Given the description of an element on the screen output the (x, y) to click on. 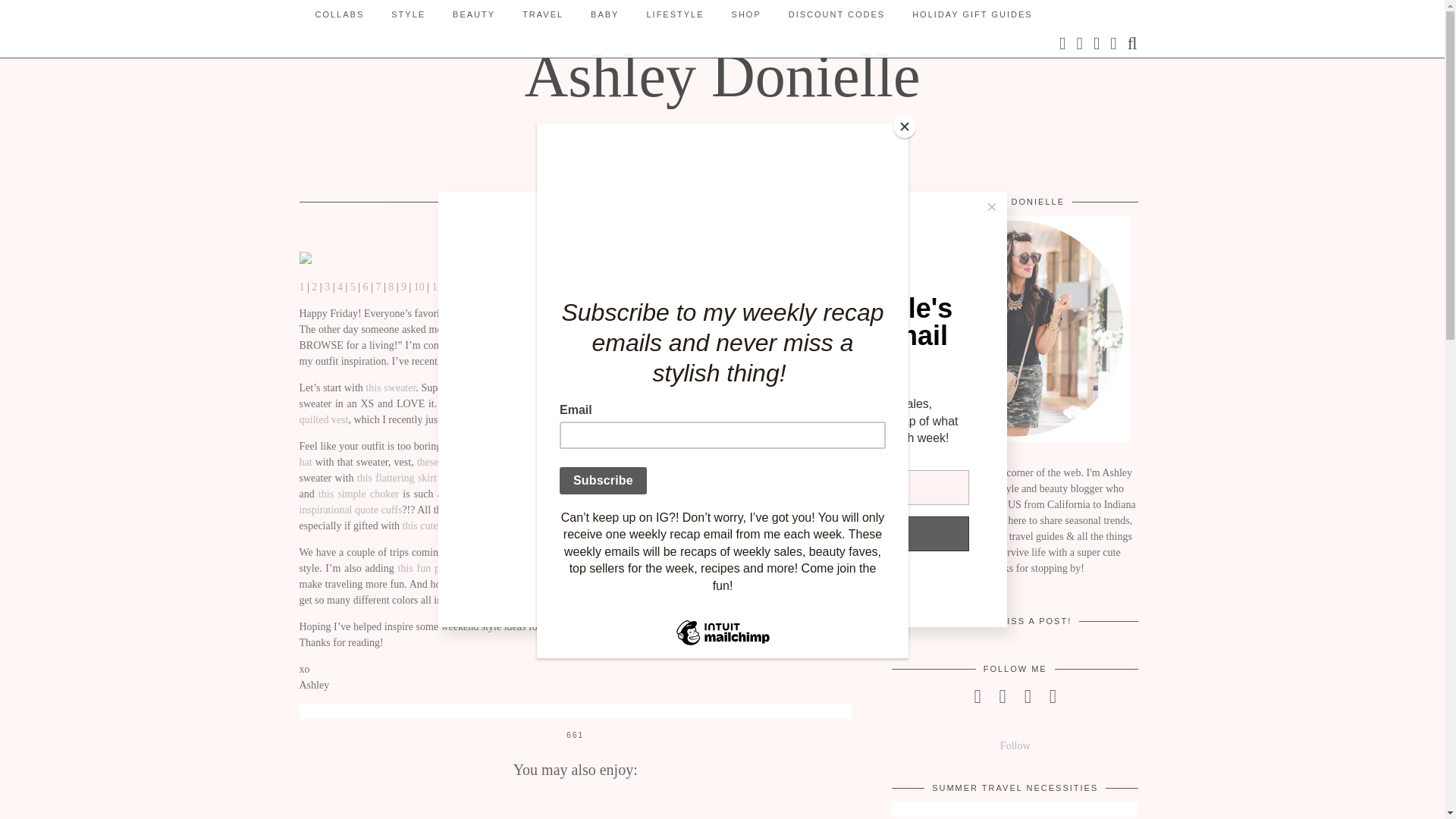
BABY (603, 14)
DISCOUNT CODES (836, 14)
Ashley Donielle (722, 75)
HOLIDAY GIFT GUIDES (971, 14)
SHOP (745, 14)
COLLABS (339, 14)
STYLE (408, 14)
TRAVEL (542, 14)
BEAUTY (473, 14)
LIFESTYLE (674, 14)
Ashley Donielle (722, 75)
